Given the description of an element on the screen output the (x, y) to click on. 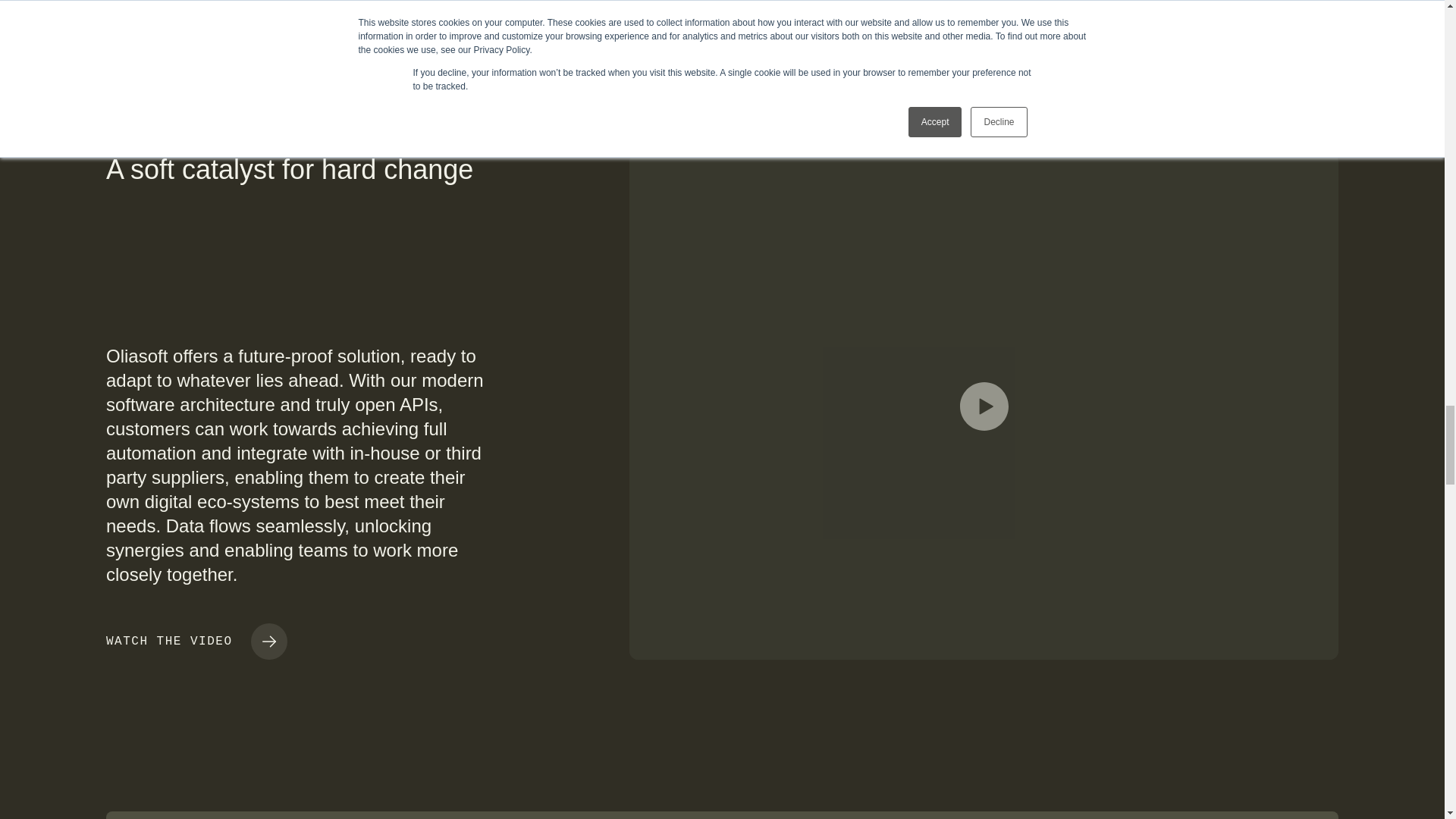
WATCH THE VIDEO (196, 641)
